Given the description of an element on the screen output the (x, y) to click on. 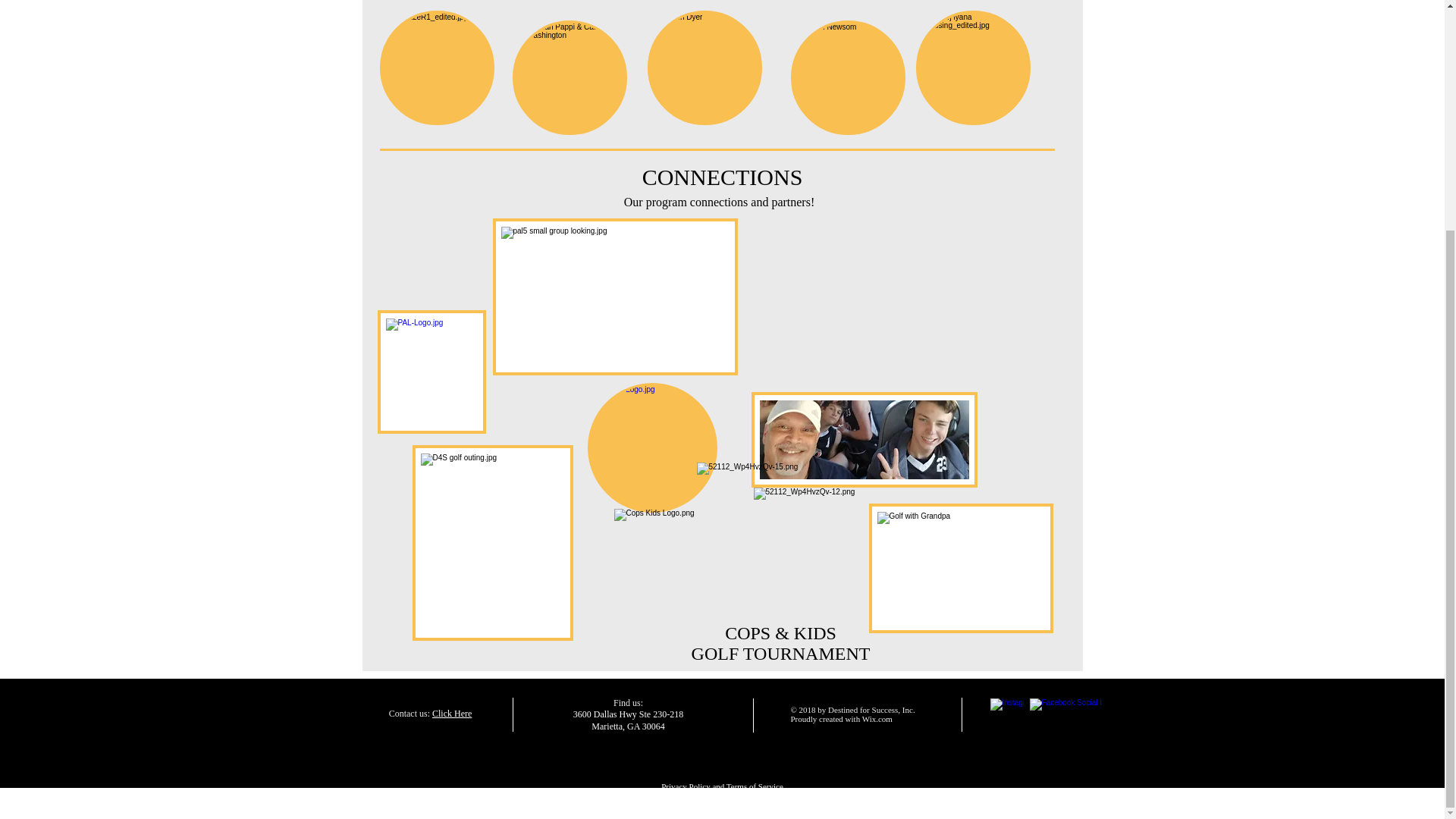
Wix.com (876, 718)
Click Here (451, 713)
Privacy Policy (685, 785)
Terms of Service (754, 785)
